Given the description of an element on the screen output the (x, y) to click on. 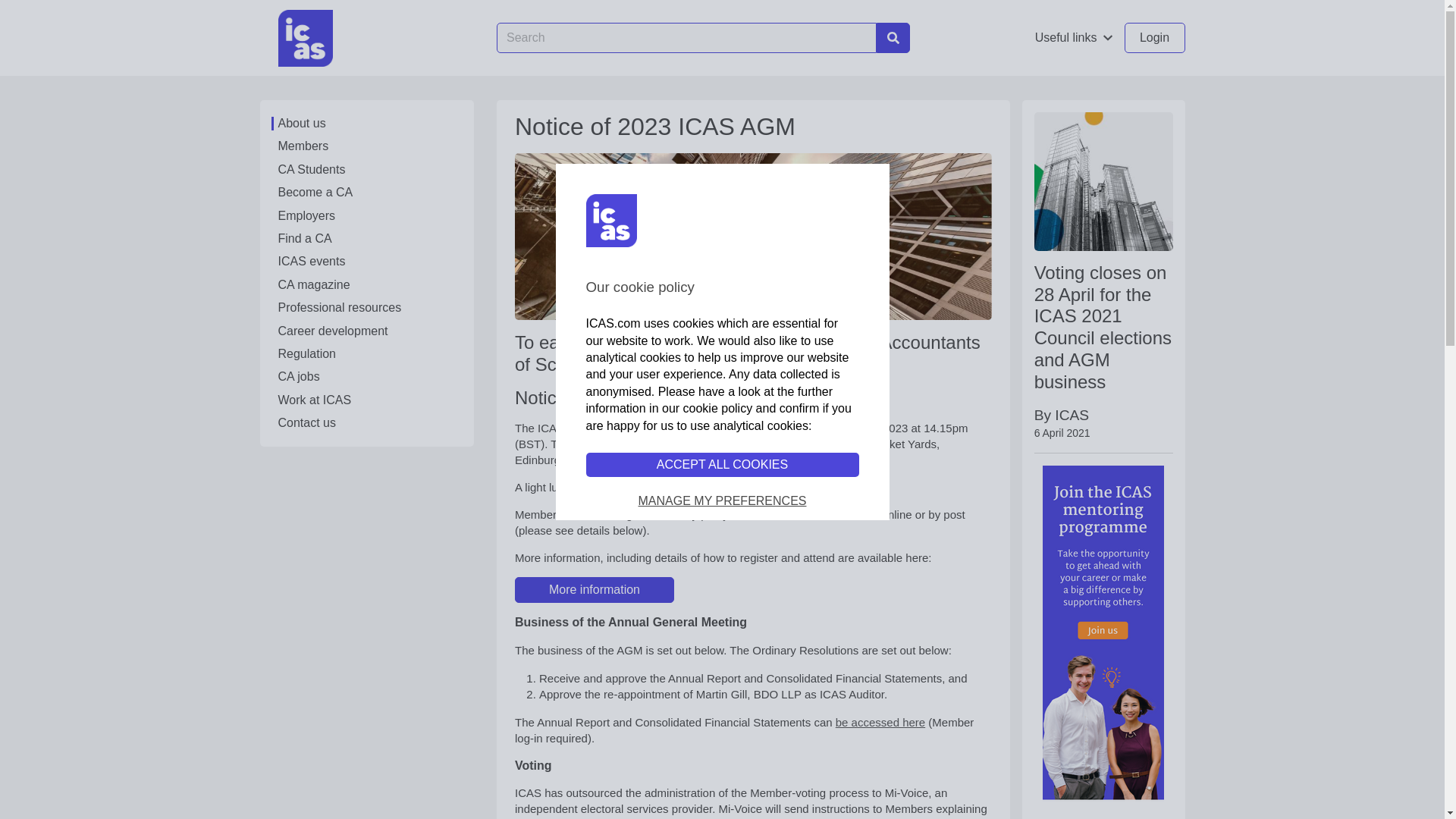
Search (893, 37)
ICAS (305, 37)
Members (366, 146)
View the 2022 Report and Statements (879, 721)
Login (1154, 37)
Useful links (1073, 37)
CA Students (366, 169)
Register for the AGM on Events Air (594, 589)
About us (366, 123)
